Given the description of an element on the screen output the (x, y) to click on. 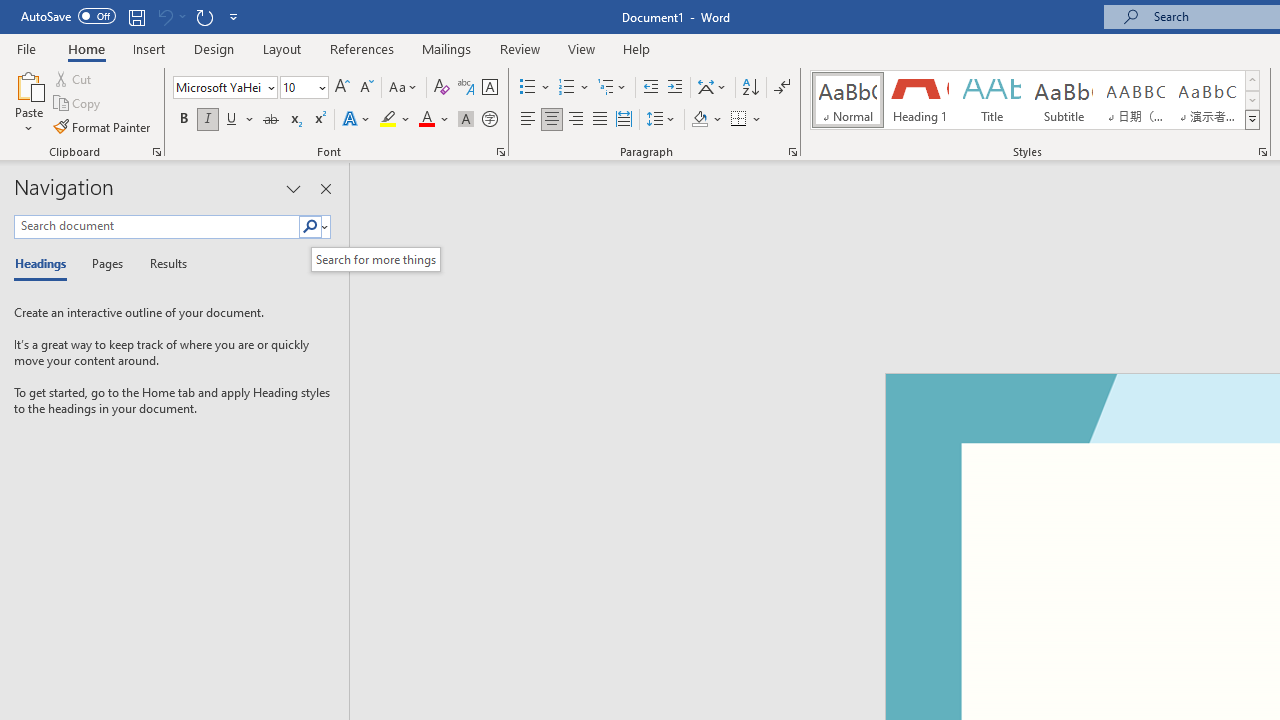
Search for more things (376, 259)
Can't Undo (164, 15)
